Given the description of an element on the screen output the (x, y) to click on. 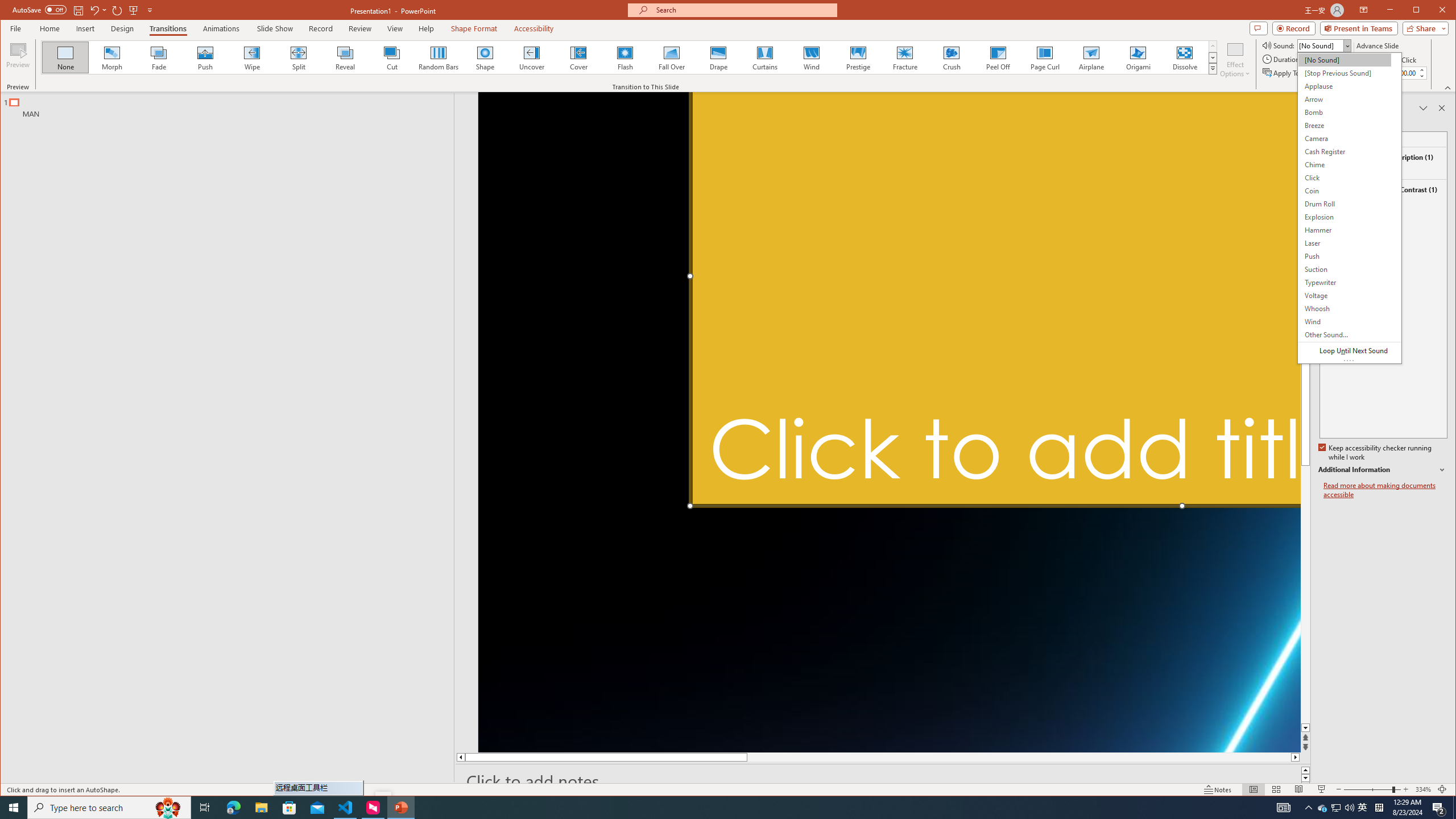
Less (1421, 75)
Collapse the Ribbon (1448, 87)
Effect Options (1235, 59)
Record (1294, 28)
Customize Quick Access Toolbar (150, 9)
Crush (951, 57)
Present in Teams (1358, 28)
Animations (221, 28)
Task View (204, 807)
Notification Chevron (1308, 807)
Outline (231, 104)
Close (1444, 11)
